Given the description of an element on the screen output the (x, y) to click on. 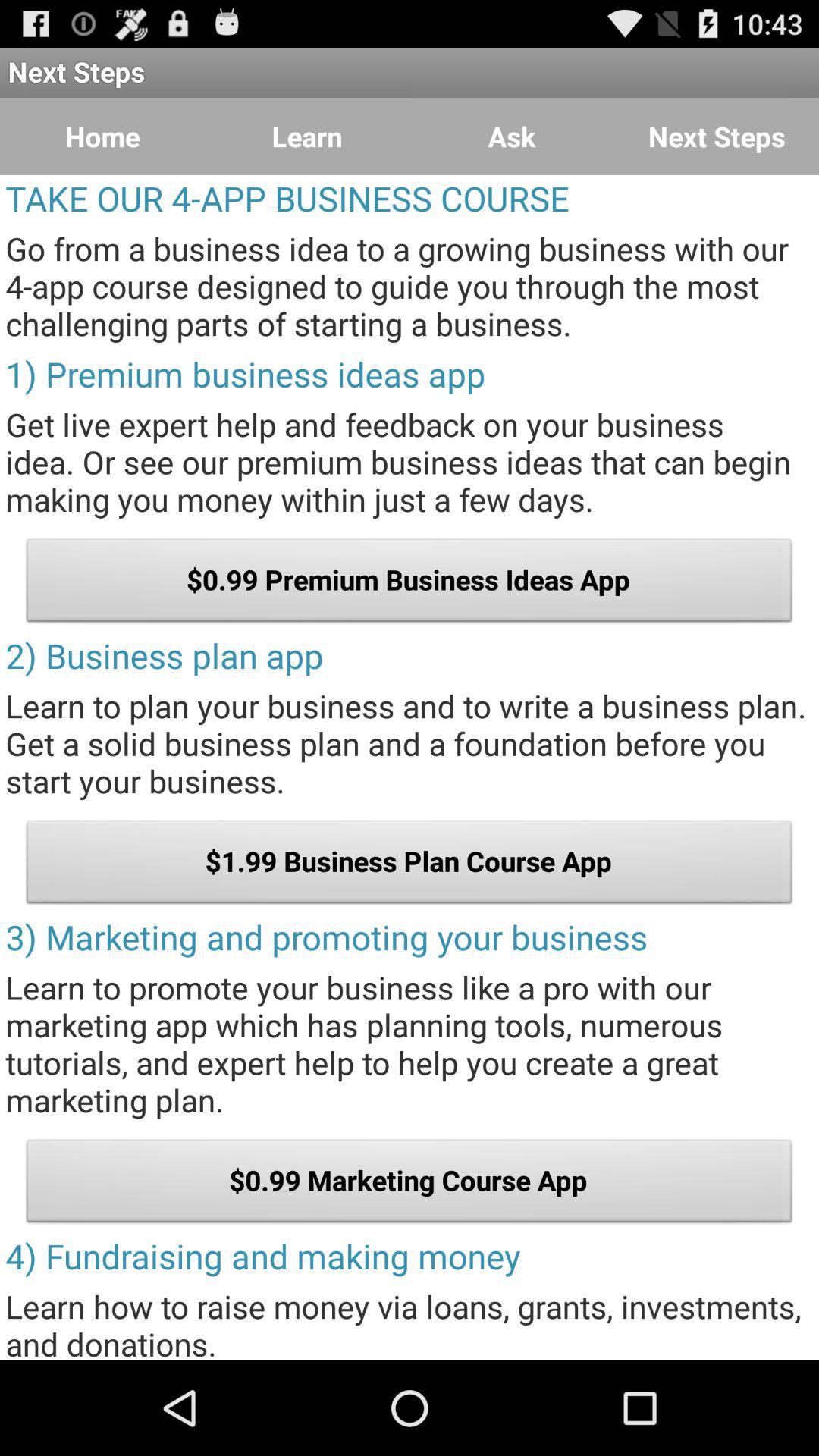
launch the item to the right of learn icon (511, 136)
